Given the description of an element on the screen output the (x, y) to click on. 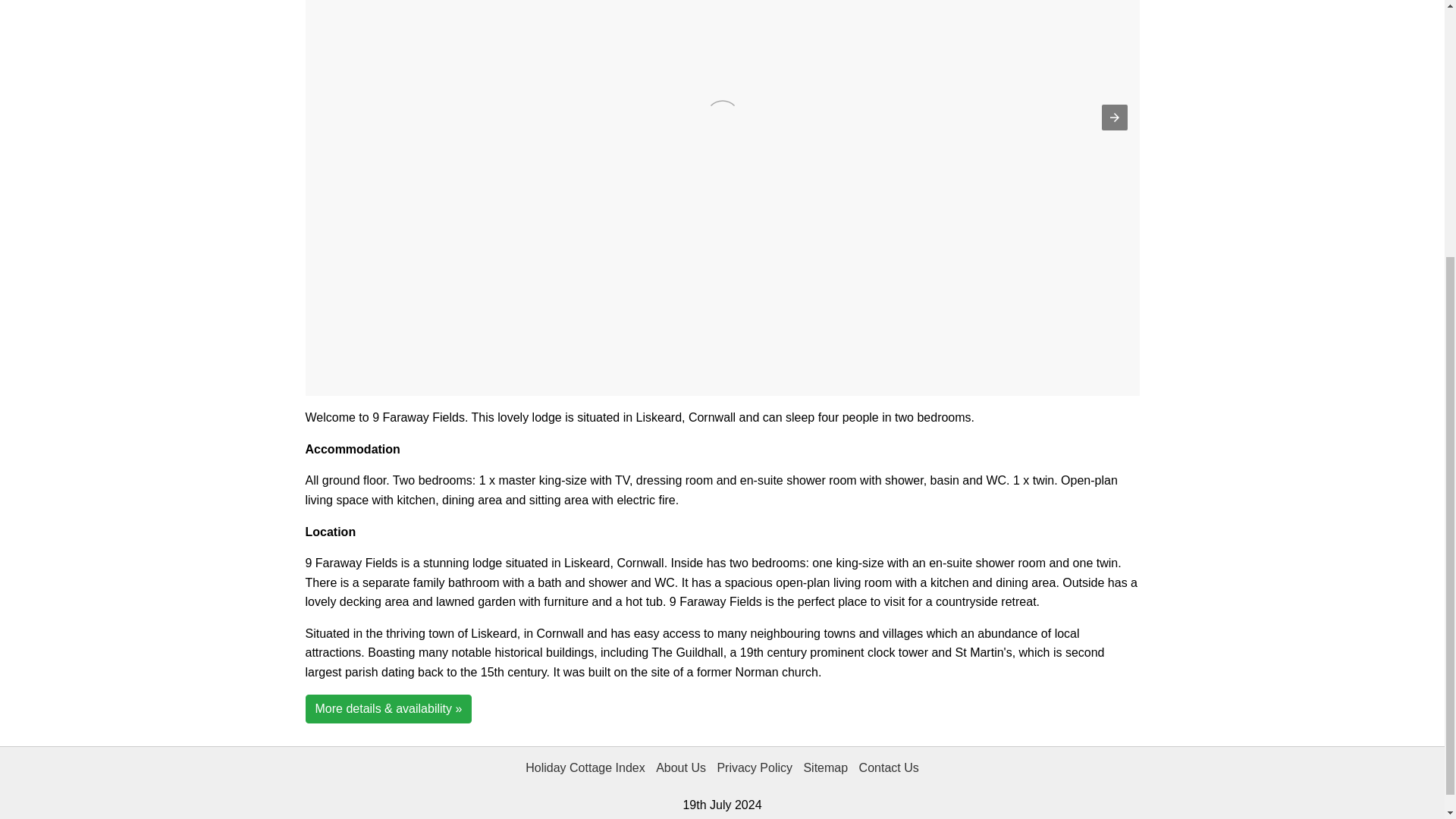
Privacy Policy (754, 770)
Holiday Cottage Index (584, 770)
Sitemap (825, 770)
About Us (681, 770)
Contact Us (889, 770)
